Given the description of an element on the screen output the (x, y) to click on. 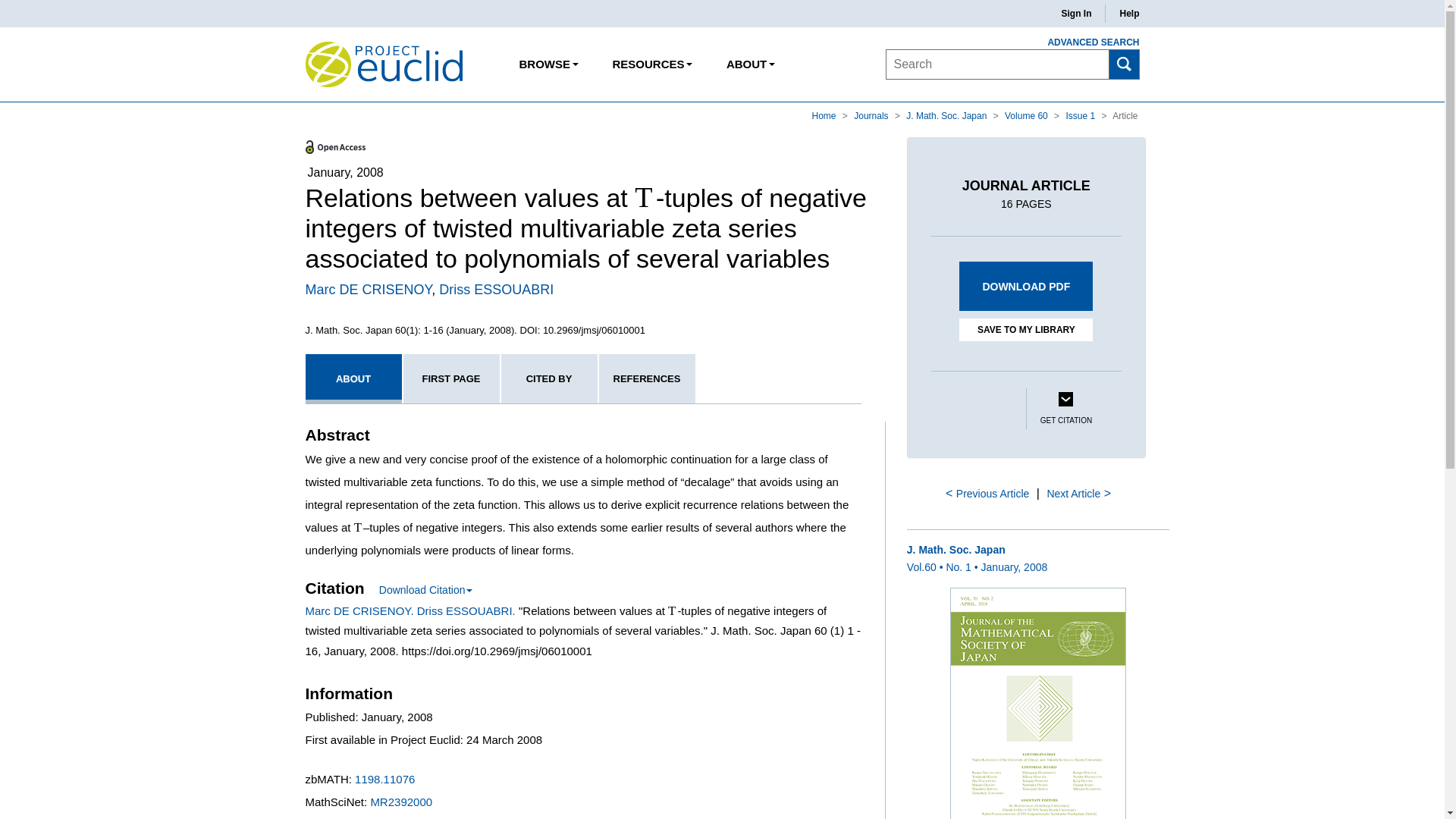
Issue 1 (1081, 115)
Subscriptions and Access (651, 64)
ABOUT (750, 64)
BROWSE (549, 64)
ADVANCED SEARCH (1084, 42)
Journals (872, 115)
Sign In (1075, 13)
Browse (549, 64)
J. Math. Soc. Japan (946, 115)
About (750, 64)
Journals (872, 115)
FIRST PAGE (451, 378)
REFERENCES (646, 378)
Home (825, 115)
RESOURCES (651, 64)
